Given the description of an element on the screen output the (x, y) to click on. 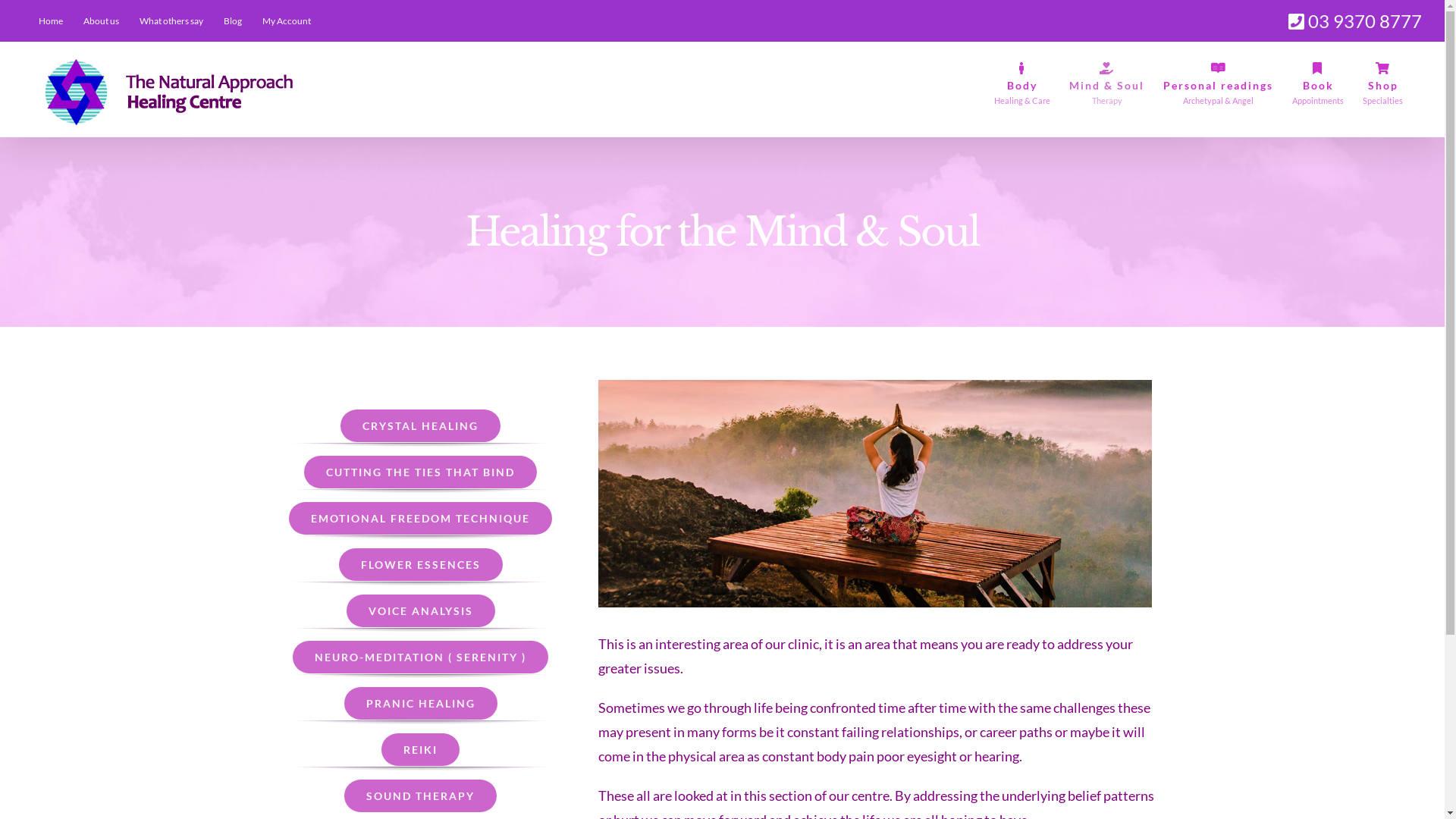
Shop
Specialties Element type: text (1382, 83)
CUTTING THE TIES THAT BIND Element type: text (420, 471)
Log In Element type: text (338, 188)
About us Element type: text (100, 20)
VOICE ANALYSIS Element type: text (420, 610)
SOUND THERAPY Element type: text (420, 795)
What others say Element type: text (171, 20)
Book
Appointments Element type: text (1317, 83)
Mind & Soul
Therapy Element type: text (1106, 83)
03 9370 8777 Element type: text (1354, 20)
My Account Element type: text (286, 20)
CRYSTAL HEALING Element type: text (420, 425)
EMOTIONAL FREEDOM TECHNIQUE Element type: text (420, 518)
Body
Healing & Care Element type: text (1022, 83)
REIKI Element type: text (420, 748)
Blog Element type: text (232, 20)
PRANIC HEALING Element type: text (420, 703)
Personal readings
Archetypal & Angel Element type: text (1218, 83)
NEURO-MEDITATION ( SERENITY ) Element type: text (420, 656)
body_healing_naturalapproach Element type: hover (874, 493)
Home Element type: text (50, 20)
FLOWER ESSENCES Element type: text (420, 563)
